Given the description of an element on the screen output the (x, y) to click on. 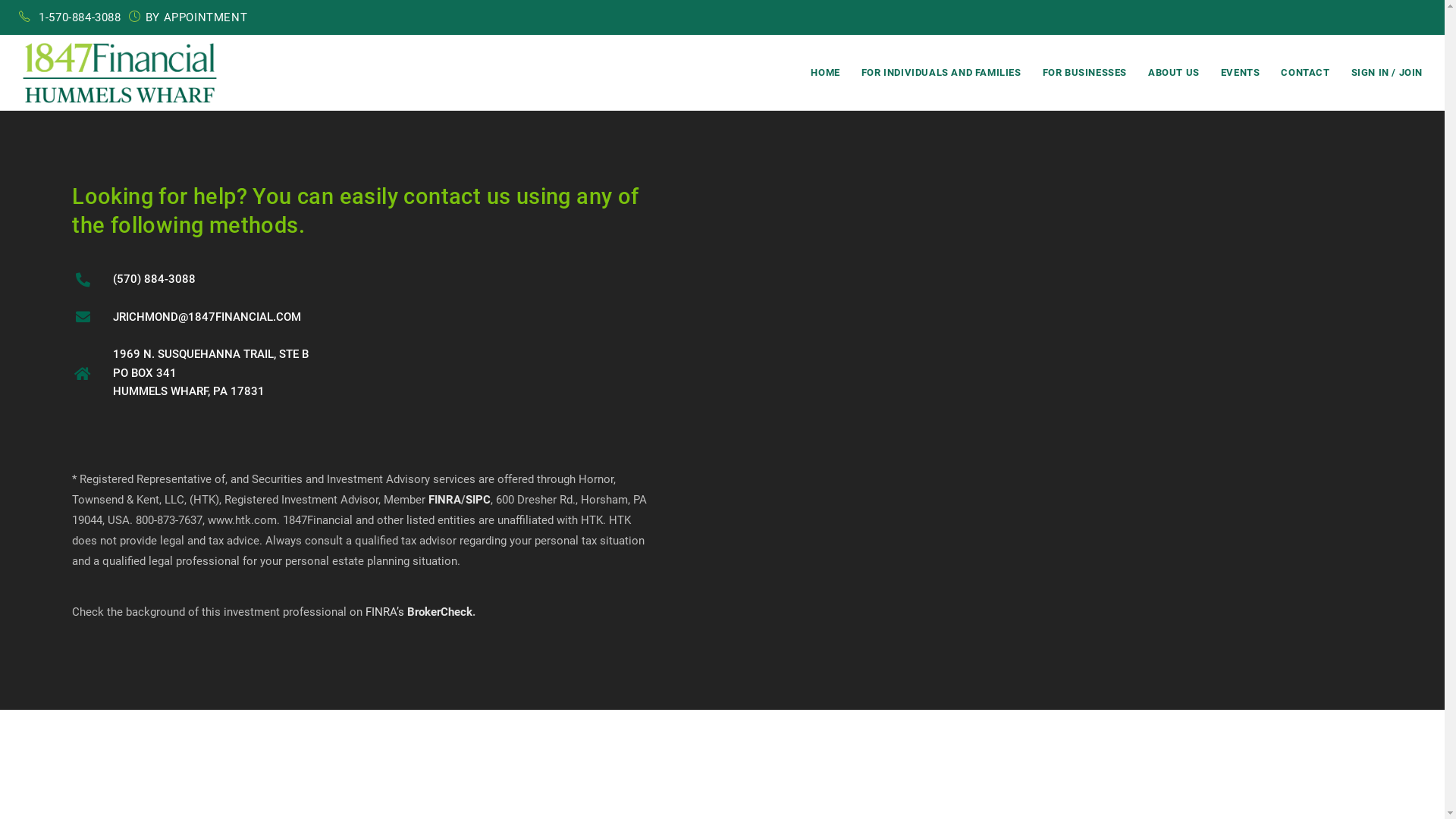
FOR INDIVIDUALS AND FAMILIES Element type: text (941, 72)
SIGN IN / JOIN Element type: text (1386, 72)
CONTACT Element type: text (1304, 72)
FINRA Element type: text (444, 499)
SIPC Element type: text (477, 499)
HOME Element type: text (825, 72)
ABOUT US Element type: text (1173, 72)
FOR BUSINESSES Element type: text (1084, 72)
1969 N. SUSQUEHANNA TRAIL, STE B HUMMELS WHARF, PA 17831 Element type: hover (1082, 343)
EVENTS Element type: text (1240, 72)
